Given the description of an element on the screen output the (x, y) to click on. 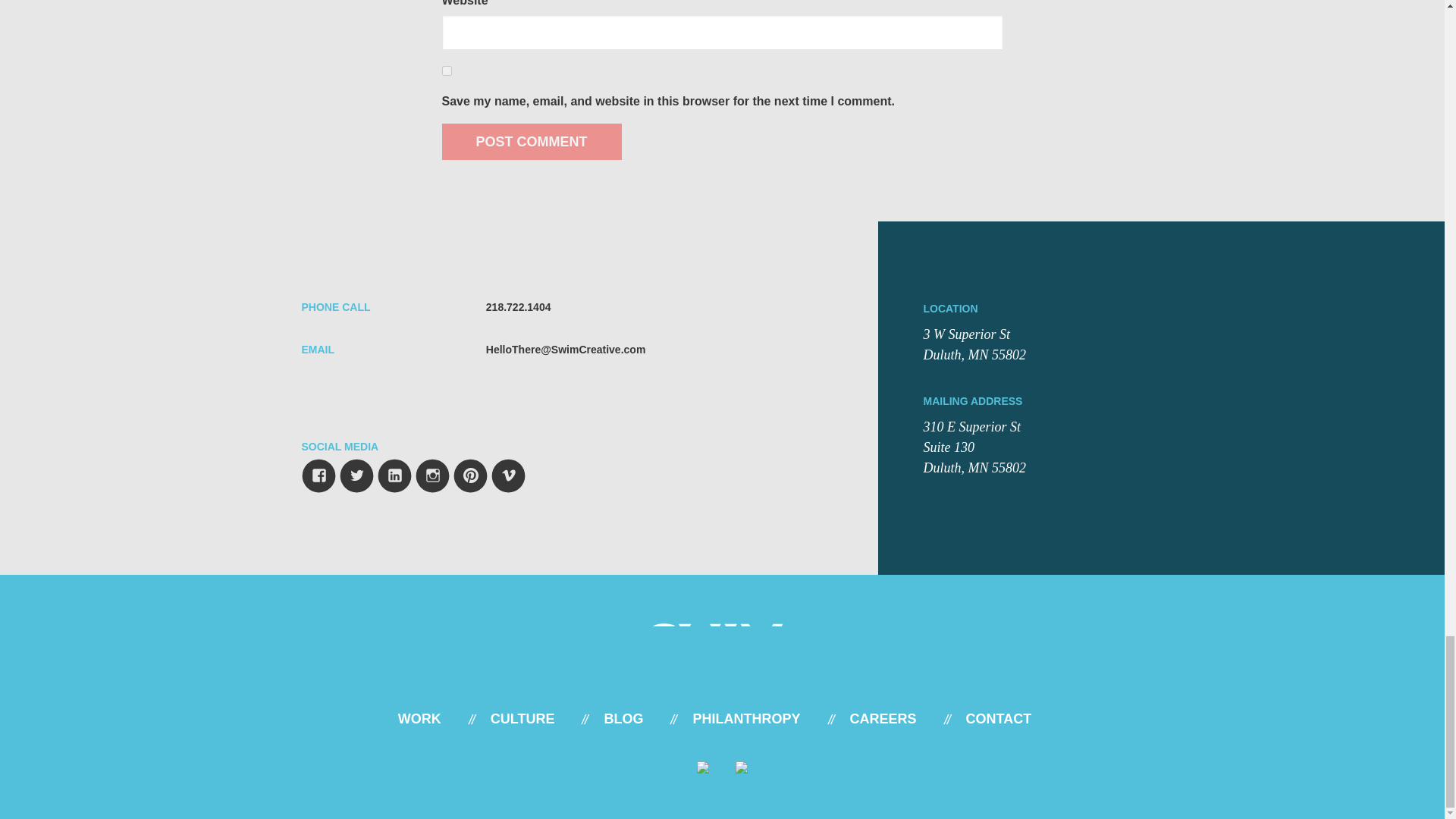
Facebook (315, 471)
218.722.1404 (518, 306)
Post Comment (531, 141)
Post Comment (531, 141)
yes (446, 71)
